Given the description of an element on the screen output the (x, y) to click on. 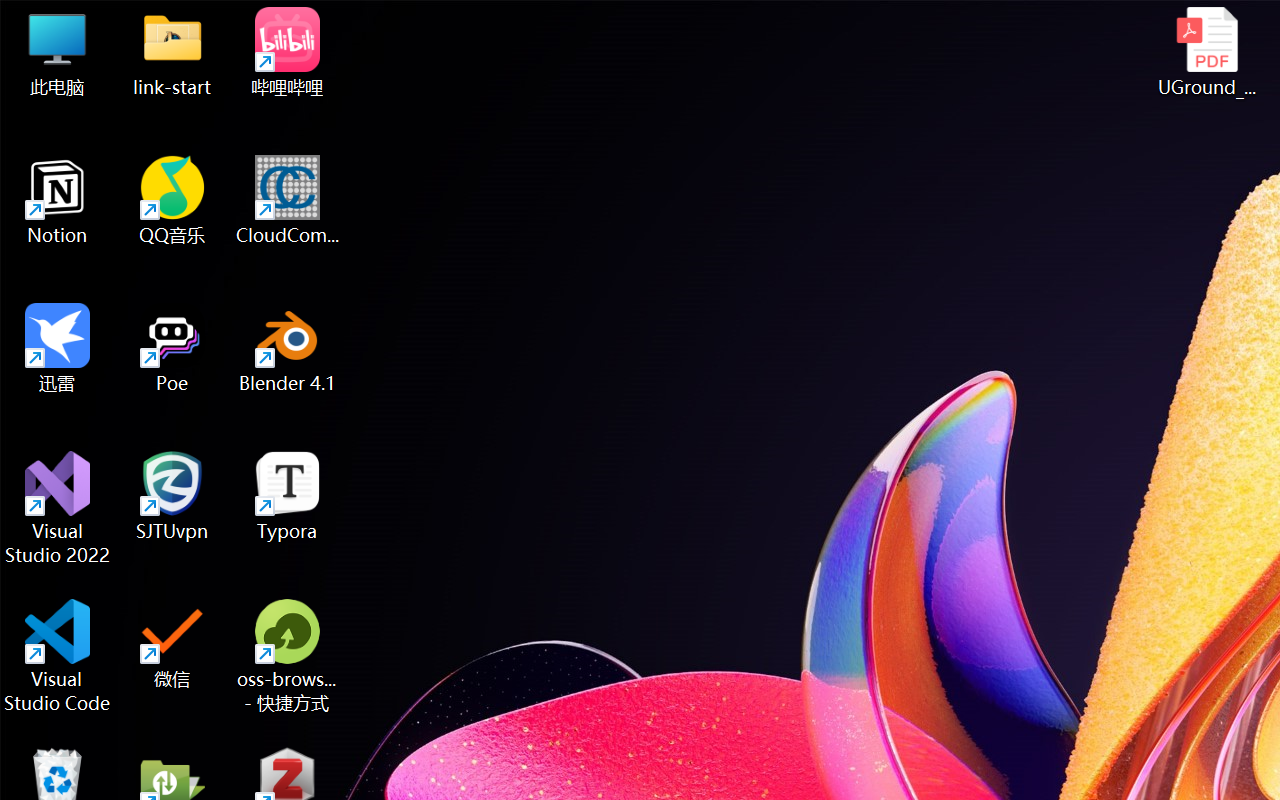
CloudCompare (287, 200)
Visual Studio Code (57, 656)
SJTUvpn (172, 496)
Blender 4.1 (287, 348)
UGround_paper.pdf (1206, 52)
Visual Studio 2022 (57, 508)
Typora (287, 496)
